Given the description of an element on the screen output the (x, y) to click on. 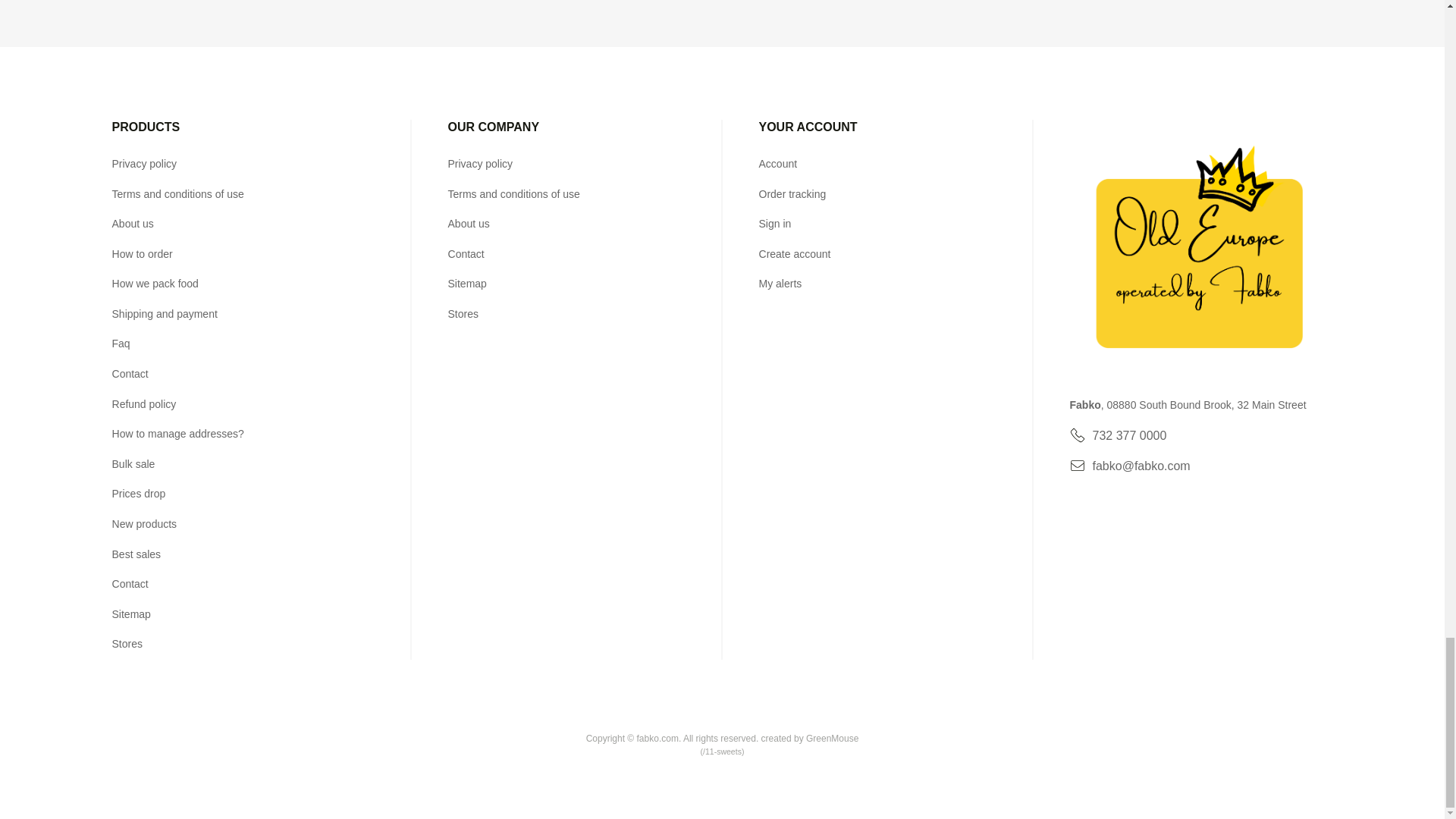
Our terms and conditions of use (178, 193)
How we pack food at fabko.com (155, 283)
FAQ (121, 343)
Learn more about us (133, 223)
Privacy Policy (144, 163)
Shipping and payment    (164, 313)
how to order (142, 254)
Contact (130, 373)
